Given the description of an element on the screen output the (x, y) to click on. 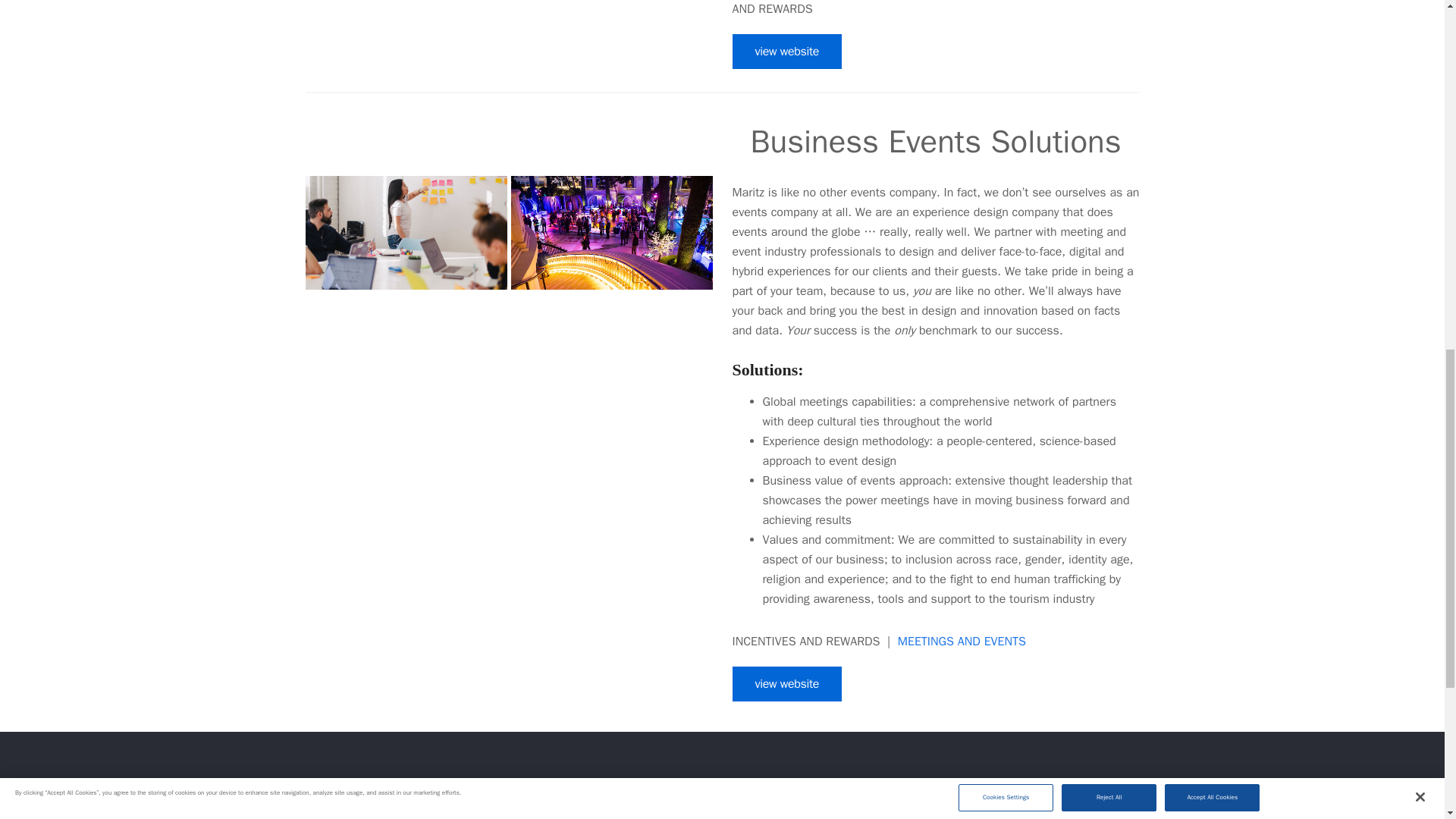
MEETINGS AND EVENTS (962, 641)
view website (787, 683)
view website (787, 51)
